Given the description of an element on the screen output the (x, y) to click on. 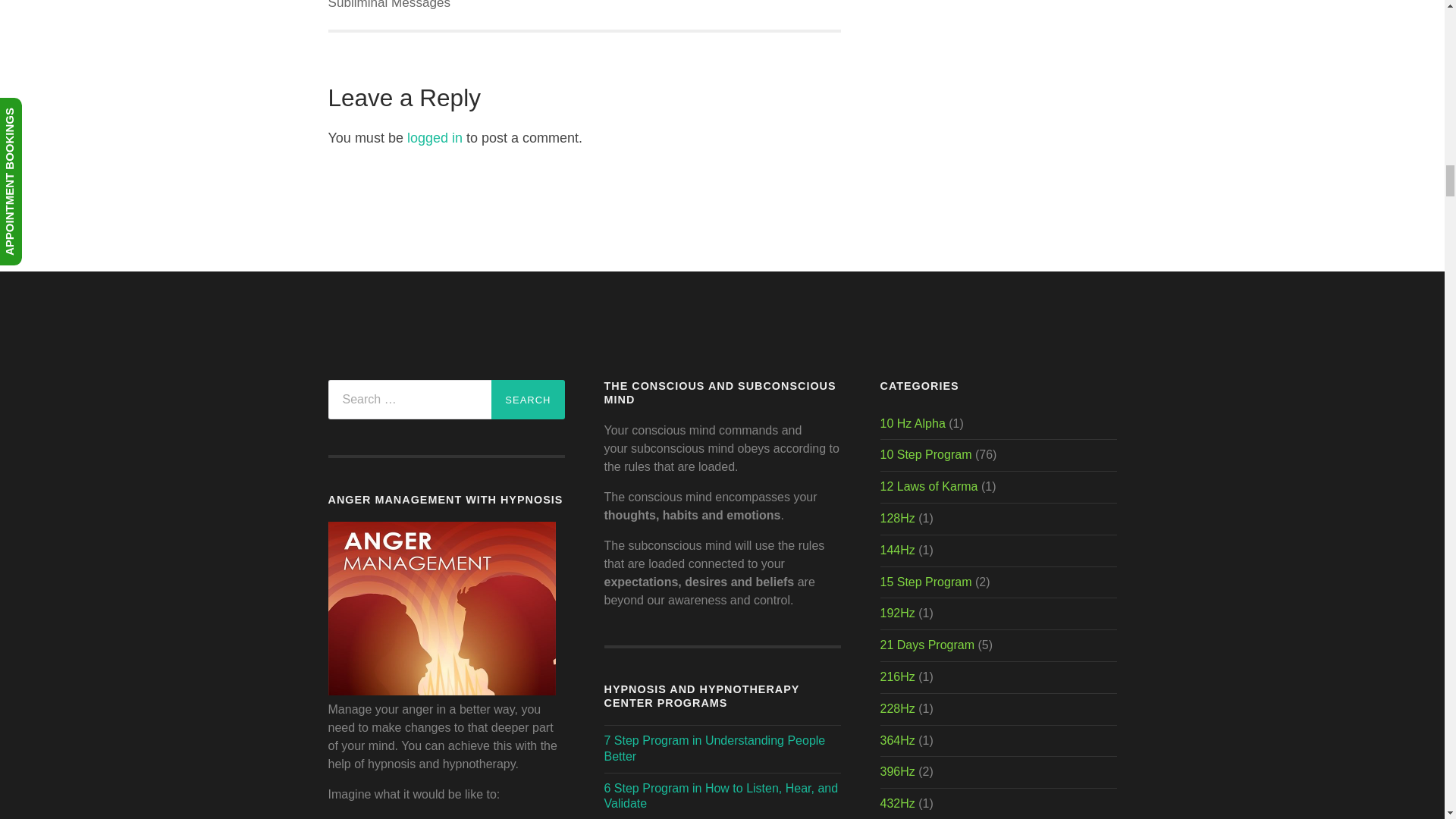
Search (528, 399)
Search (528, 399)
Click Here! Anger Management with Hypnosis (440, 690)
